Given the description of an element on the screen output the (x, y) to click on. 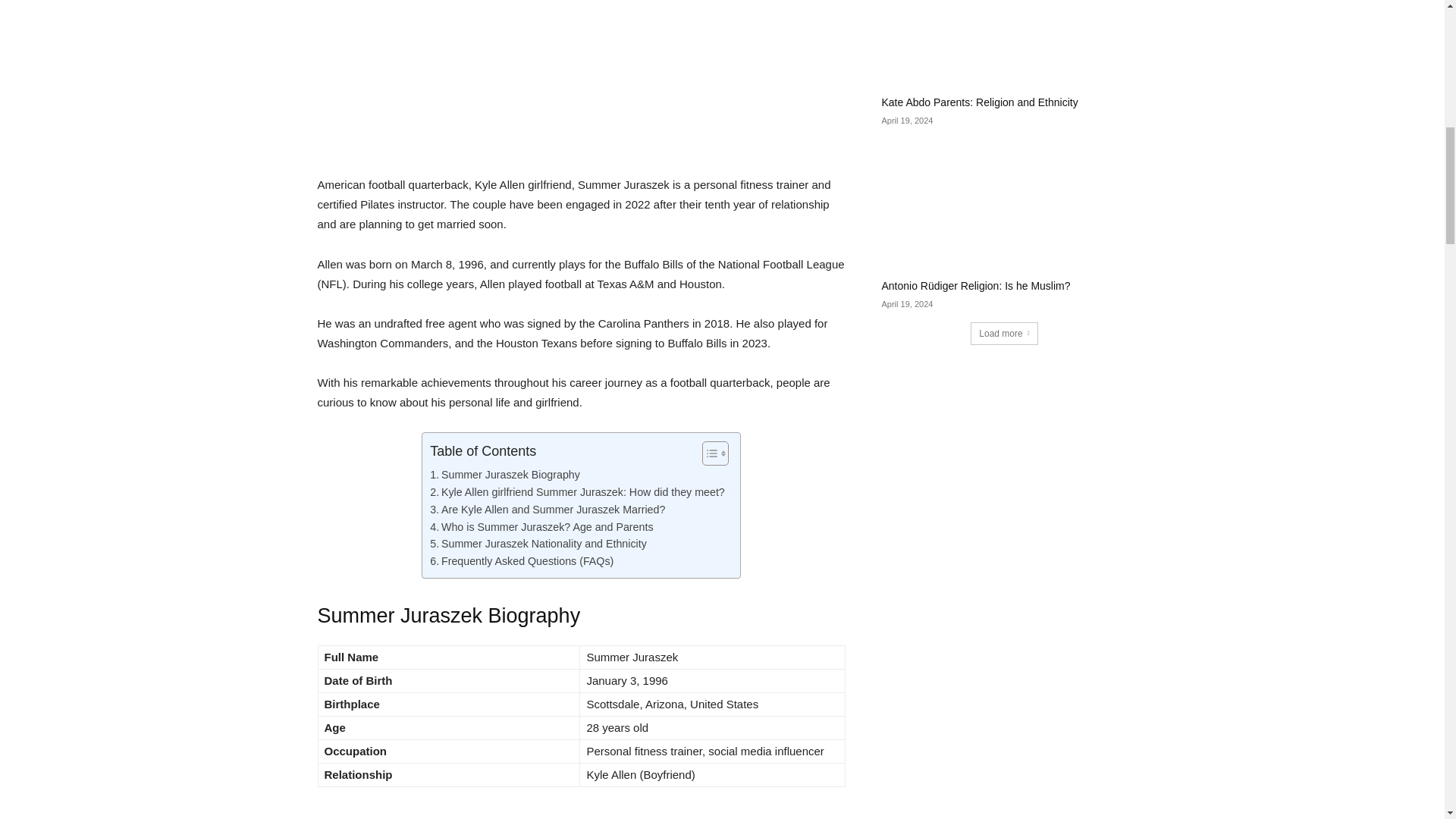
Summer Juraszek Nationality and Ethnicity (537, 543)
Kyle Allen girlfriend Summer Juraszek: How did they meet? (577, 492)
Who is Summer Juraszek? Age and Parents (540, 527)
Are Kyle Allen and Summer Juraszek Married? (547, 509)
Who is Summer Juraszek? Age and Parents (540, 527)
Are Kyle Allen and Summer Juraszek Married? (547, 509)
Kyle Allen girlfriend Summer Juraszek: How did they meet? (577, 492)
Summer Juraszek Biography (504, 475)
Summer Juraszek Biography (504, 475)
